Given the description of an element on the screen output the (x, y) to click on. 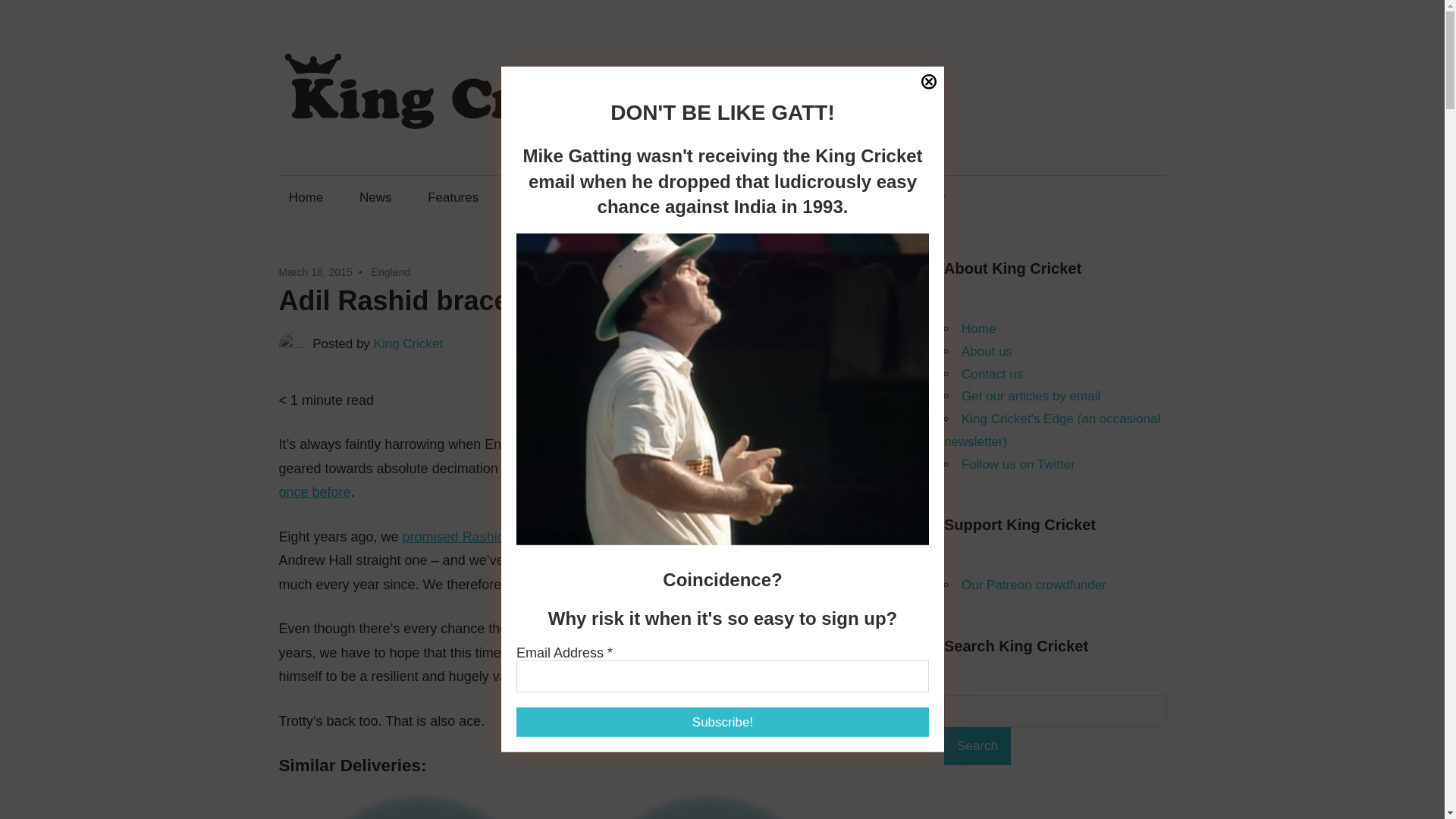
Cookie Policy (689, 491)
barren growing conditions (715, 652)
Subscribe! (721, 721)
Home (306, 196)
England (390, 272)
Adil Rashid hits maiden first-class hundred (707, 802)
Contact us (631, 196)
Privacy policy (752, 491)
View all posts by King Cricket (409, 343)
12:33 pm (315, 272)
Adil Rashid hits maiden first-class hundred (707, 802)
News (375, 196)
The 2024 King Cricket Essentials Calendar (821, 196)
Nay (816, 458)
Search (976, 745)
